Given the description of an element on the screen output the (x, y) to click on. 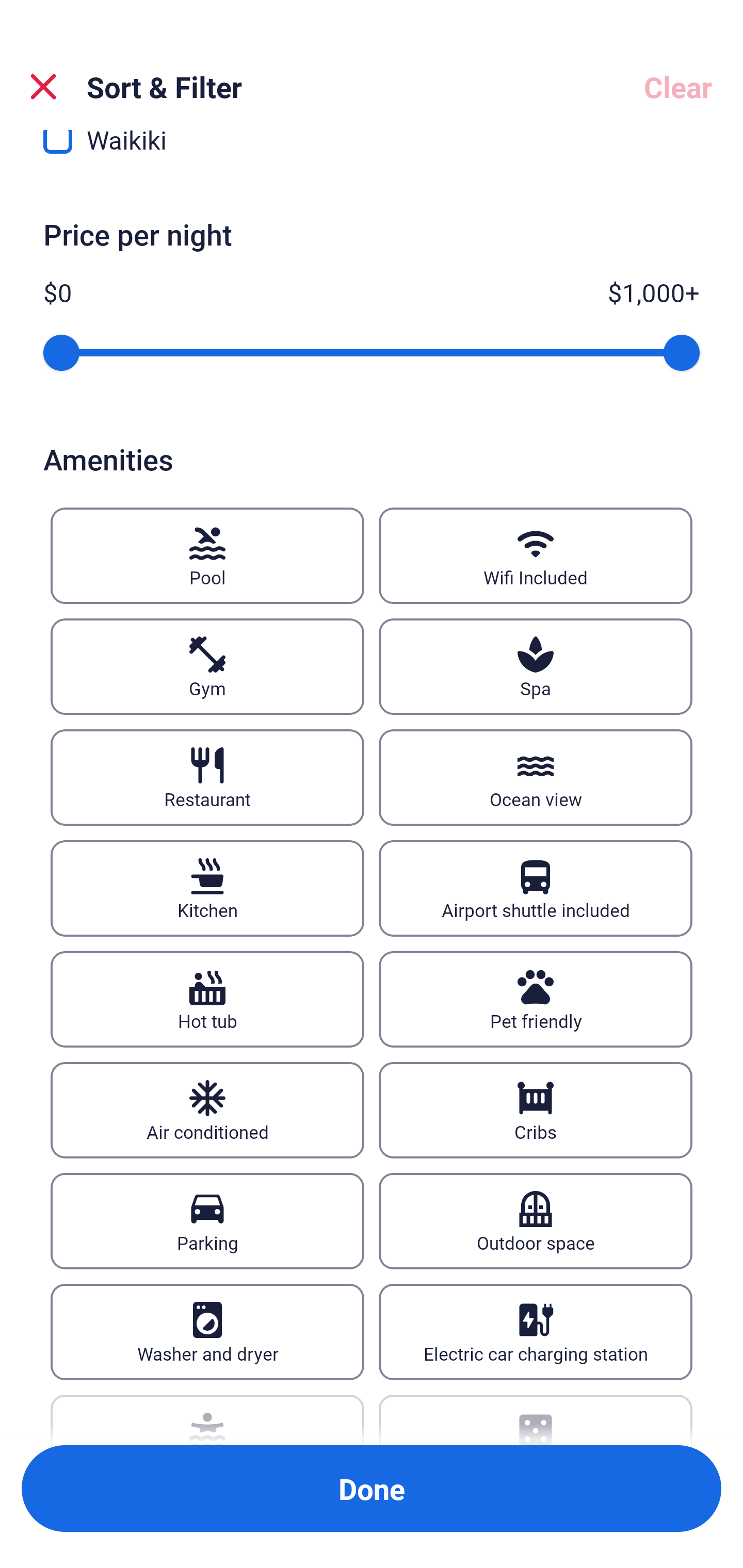
Close Sort and Filter (43, 86)
Clear (677, 86)
Waikiki, Waikiki (371, 156)
Pool (207, 555)
Wifi Included (535, 555)
Gym (207, 666)
Spa (535, 666)
Restaurant (207, 777)
Ocean view (535, 777)
Kitchen (207, 888)
Airport shuttle included (535, 888)
Hot tub (207, 999)
Pet friendly (535, 999)
Air conditioned (207, 1109)
Cribs (535, 1109)
Parking (207, 1221)
Outdoor space (535, 1221)
Washer and dryer (207, 1331)
Electric car charging station (535, 1331)
Apply and close Sort and Filter Done (371, 1488)
